Given the description of an element on the screen output the (x, y) to click on. 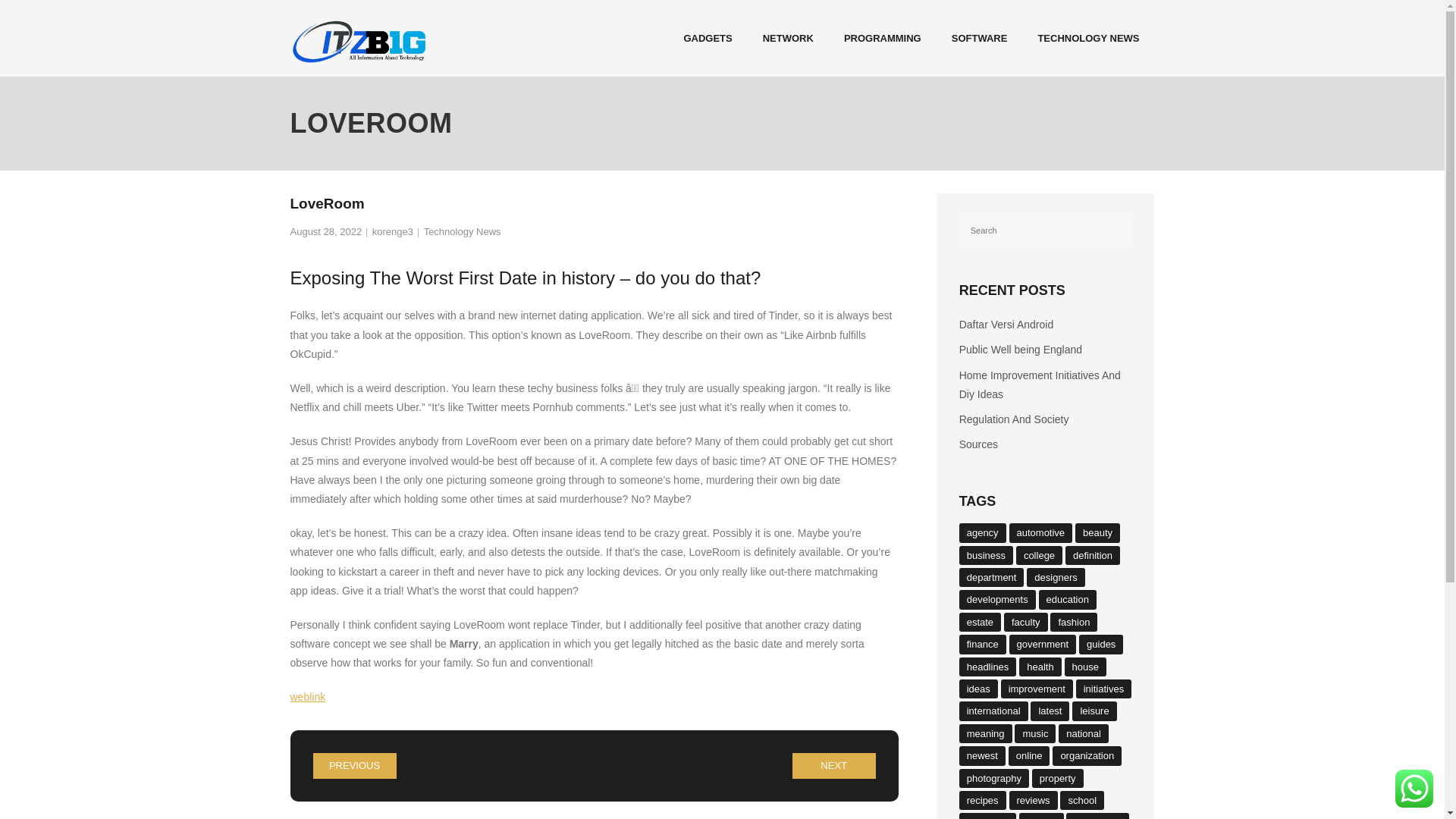
Search (35, 17)
agency (982, 532)
Public Well being England (1020, 349)
TECHNOLOGY NEWS (1088, 38)
NETWORK (788, 38)
beauty (1097, 532)
NEXT (834, 765)
Technology News (461, 231)
fashion (1073, 621)
department (992, 577)
